Given the description of an element on the screen output the (x, y) to click on. 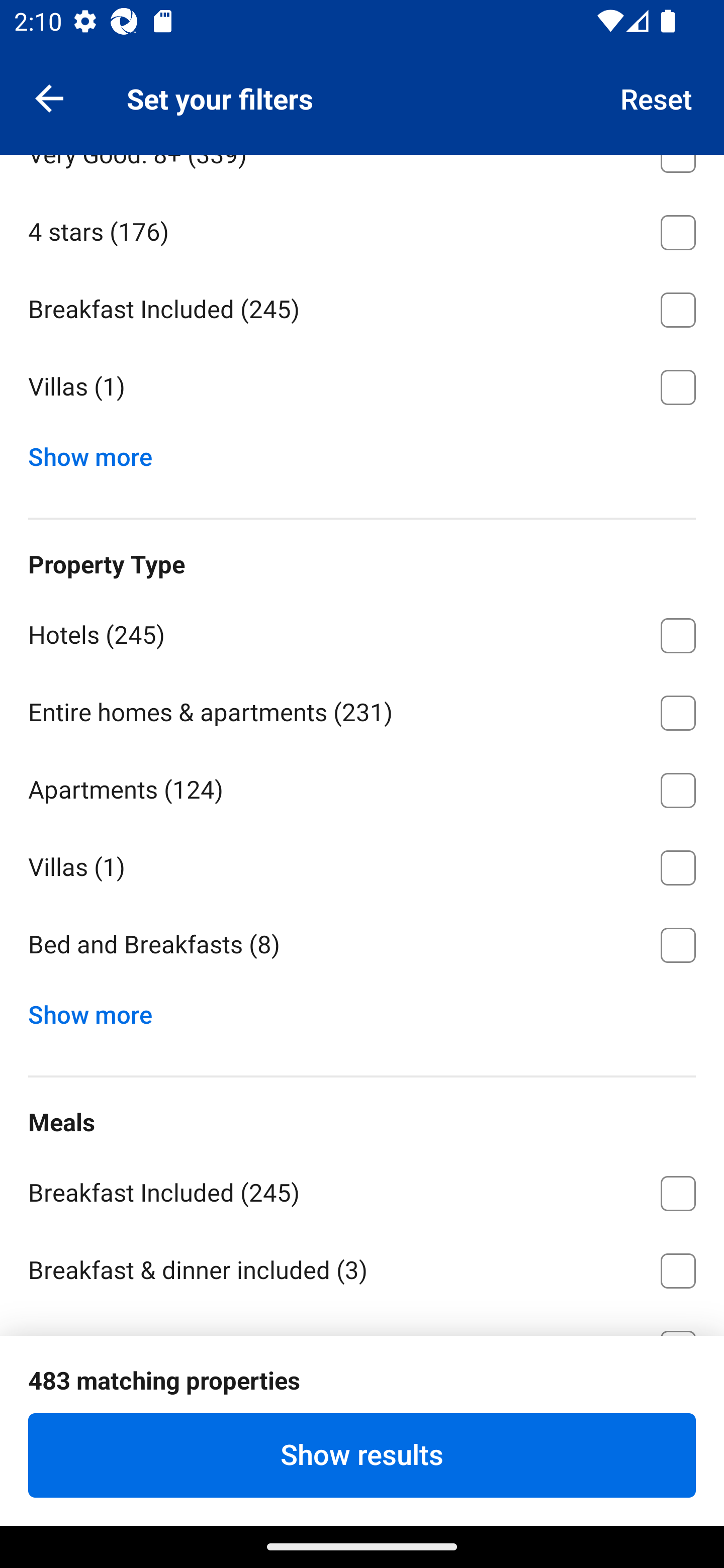
Apartments ⁦(124) (361, 74)
Navigate up (49, 97)
Reset (656, 97)
4 stars ⁦(176) (361, 228)
Breakfast Included ⁦(245) (361, 306)
Villas ⁦(1) (361, 386)
Show more (97, 452)
Hotels ⁦(245) (361, 632)
Entire homes & apartments ⁦(231) (361, 709)
Apartments ⁦(124) (361, 786)
Villas ⁦(1) (361, 864)
Bed and Breakfasts ⁦(8) (361, 945)
Show more (97, 1010)
Breakfast Included ⁦(245) (361, 1189)
Breakfast & dinner included ⁦(3) (361, 1267)
Show results (361, 1454)
